Given the description of an element on the screen output the (x, y) to click on. 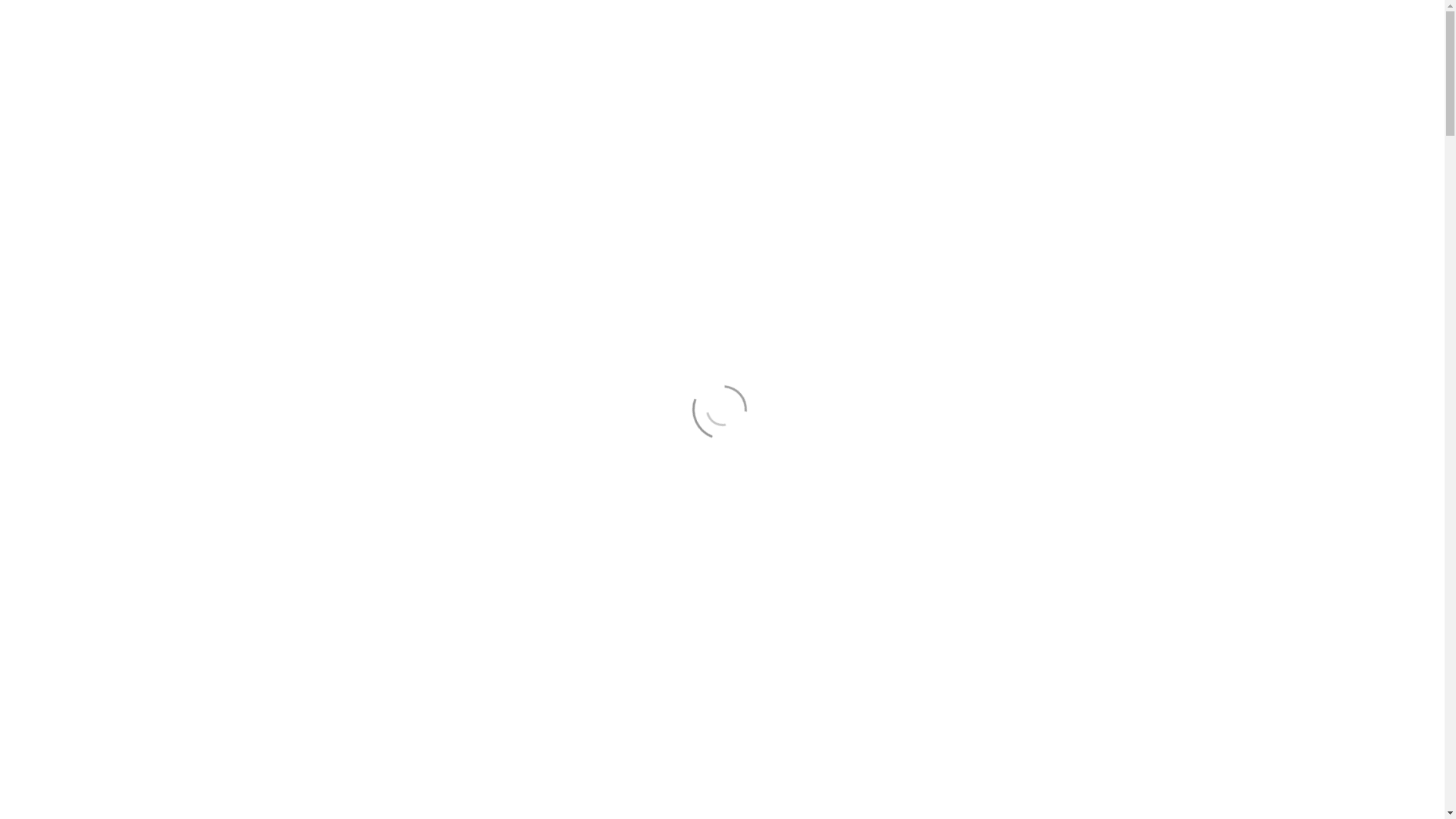
Contacteer ons Element type: text (1064, 14)
Facebook Element type: text (1134, 14)
admin Element type: text (472, 676)
Vakantiewoning Element type: text (705, 62)
Aan De Vleterbeke in Tendens! Element type: text (561, 646)
Over Ons Element type: text (960, 62)
Gastenboek Element type: text (1114, 62)
Reserveer Element type: text (796, 61)
Glamping Element type: text (617, 62)
In de buurt Element type: text (1034, 62)
Hoevewinkel Element type: text (880, 62)
